Given the description of an element on the screen output the (x, y) to click on. 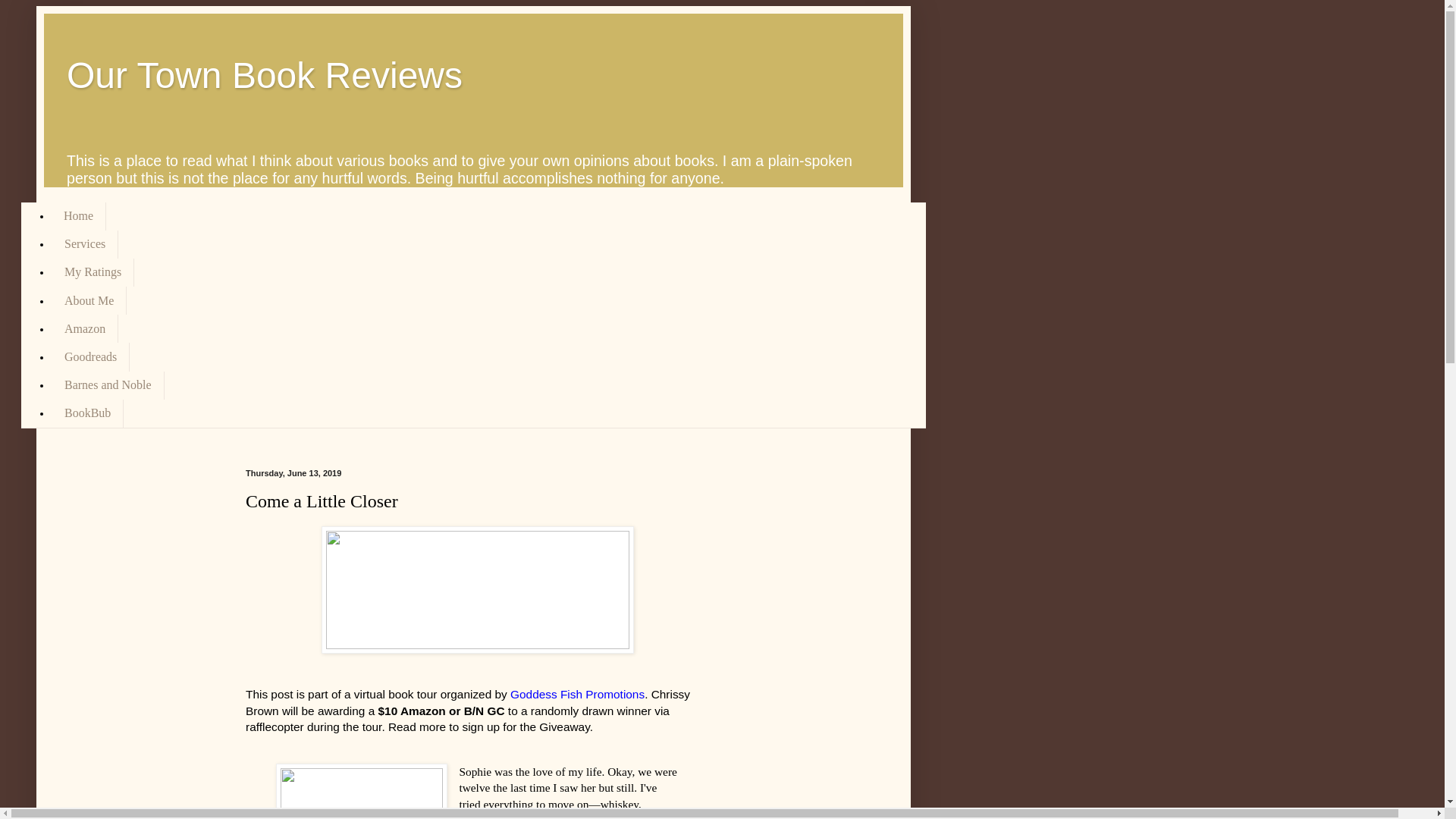
Amazon (83, 328)
Our Town Book Reviews (264, 75)
BookBub (86, 413)
Barnes and Noble (107, 385)
Goddess Fish Promotions (578, 694)
Home (78, 215)
My Ratings (91, 272)
About Me (88, 300)
Goodreads (89, 357)
Services (83, 244)
